Given the description of an element on the screen output the (x, y) to click on. 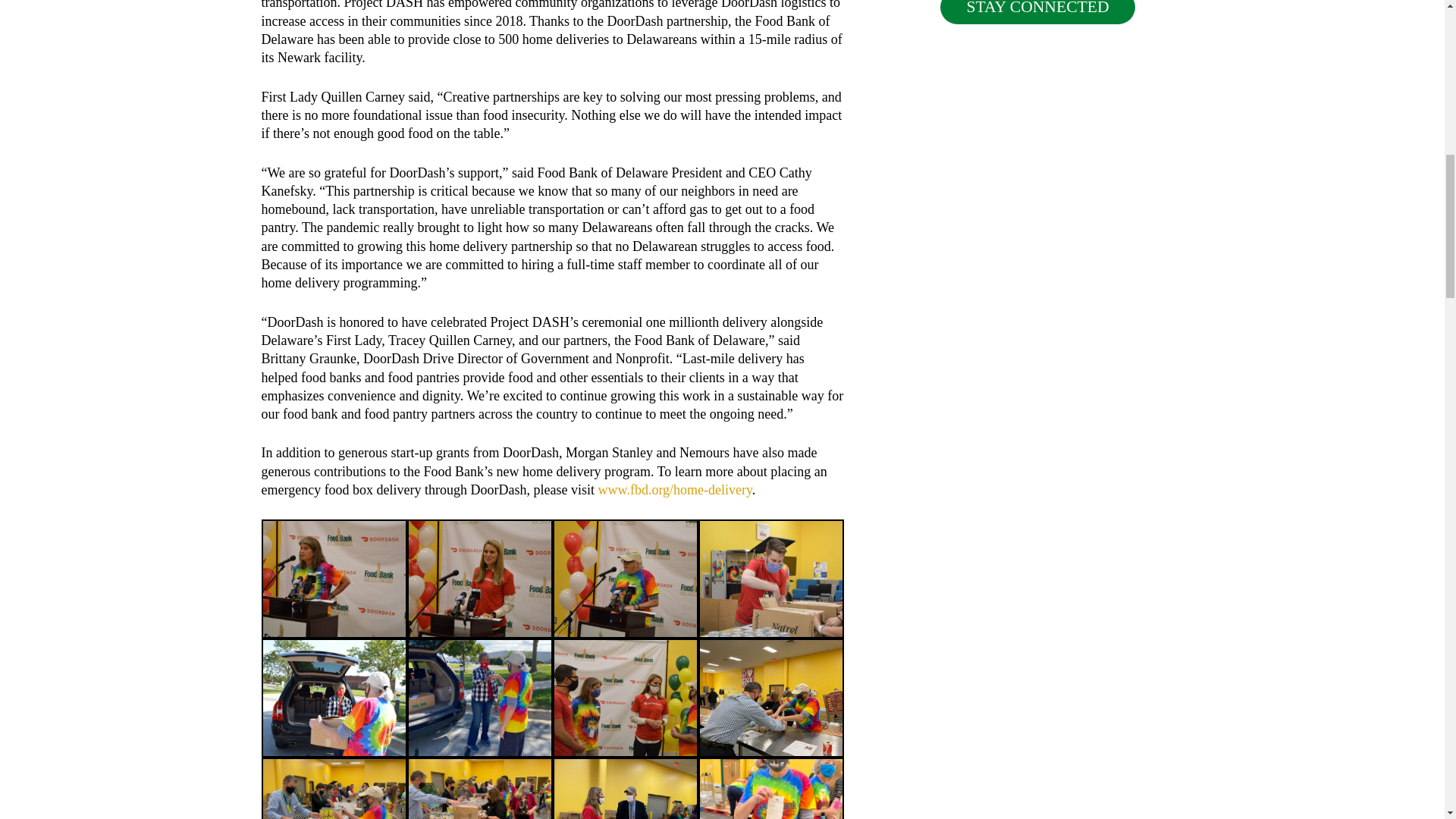
STAY CONNECTED (1037, 12)
